Given the description of an element on the screen output the (x, y) to click on. 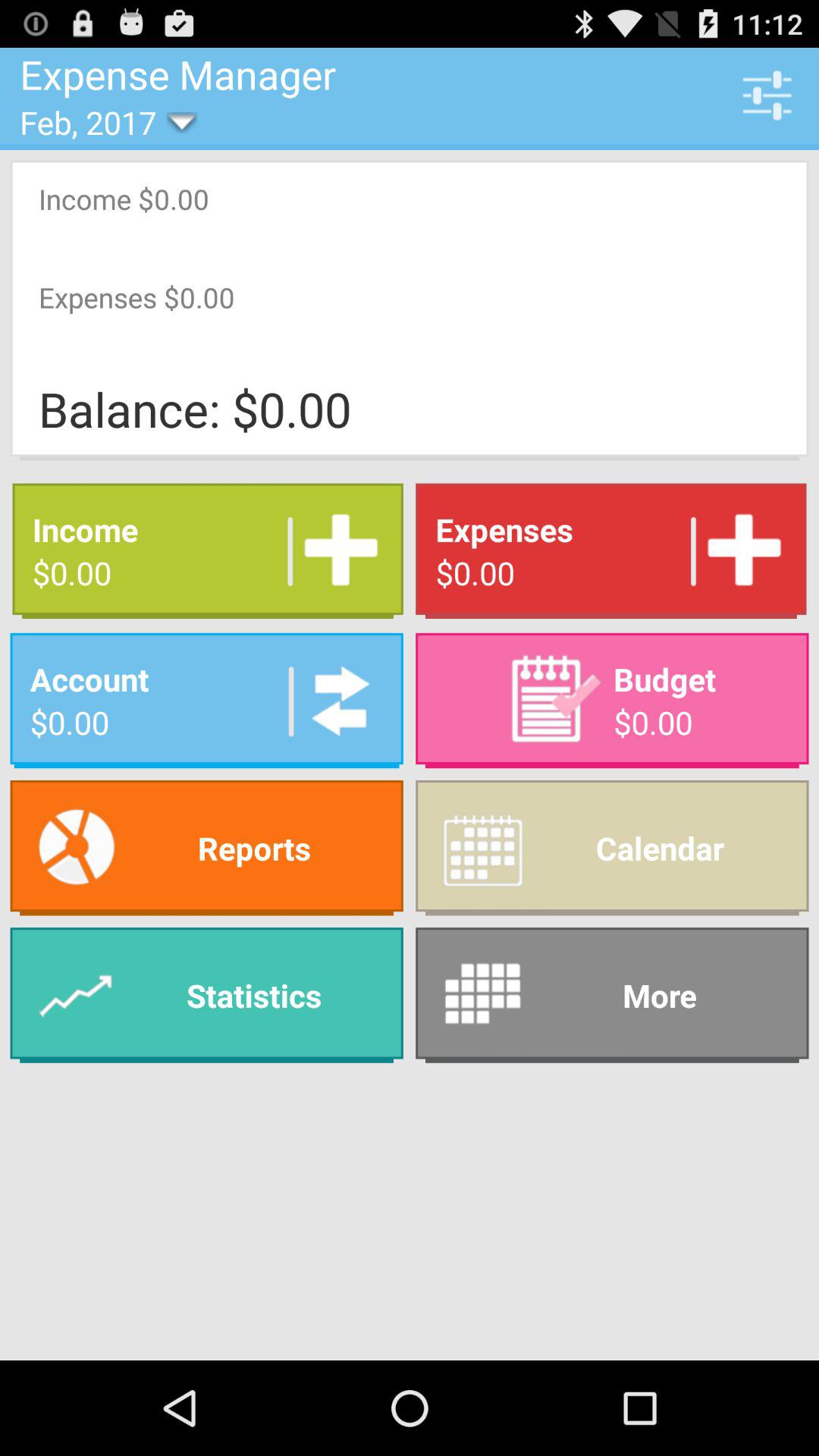
press app to the left of the calendar (206, 994)
